Given the description of an element on the screen output the (x, y) to click on. 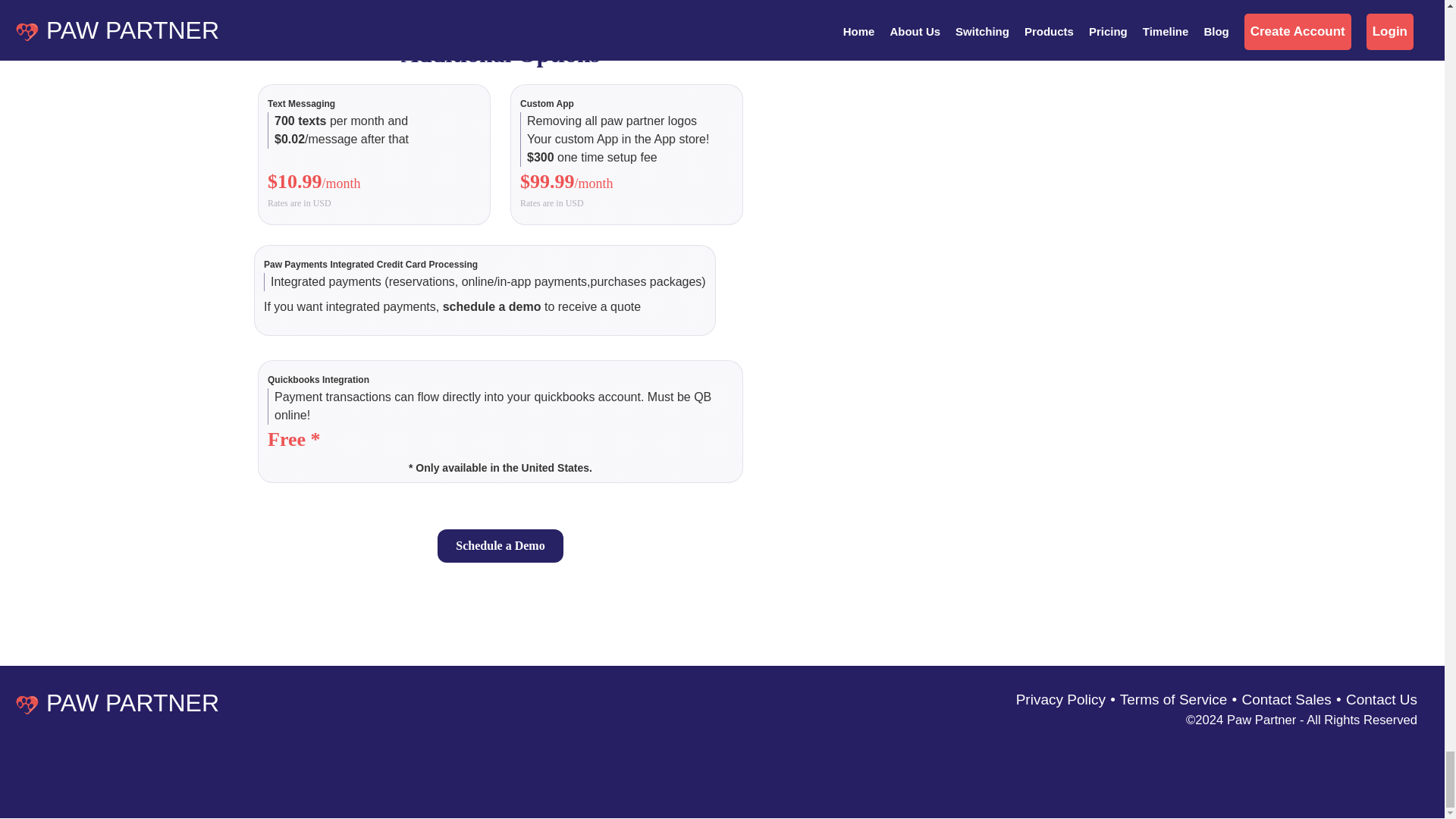
Schedule a Demo (176, 4)
Schedule a Demo (500, 4)
Schedule a Demo (500, 545)
Terms of Service (1173, 699)
Schedule a Demo (823, 4)
Contact Us (1380, 699)
Privacy Policy (1060, 699)
Contact Sales (1286, 699)
